Given the description of an element on the screen output the (x, y) to click on. 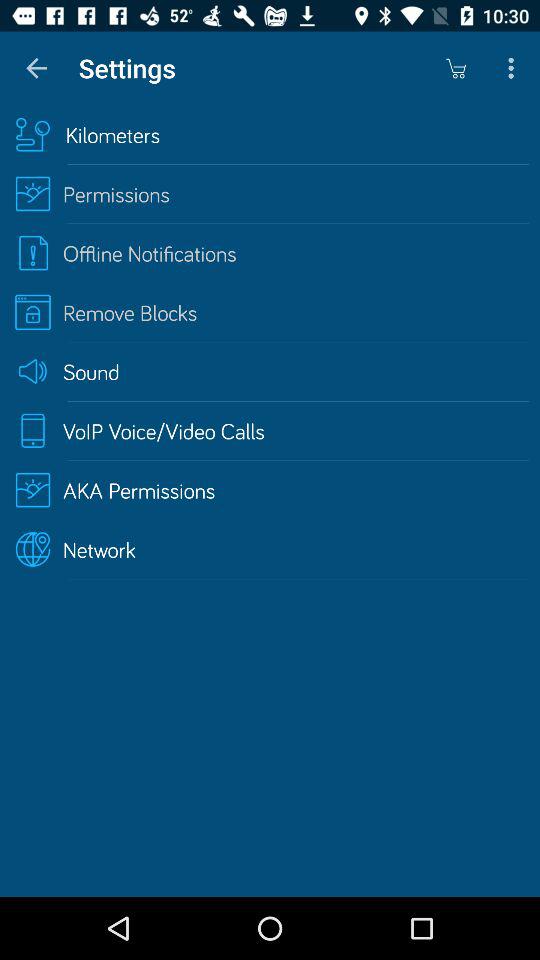
choose item above the kilometers icon (455, 67)
